Given the description of an element on the screen output the (x, y) to click on. 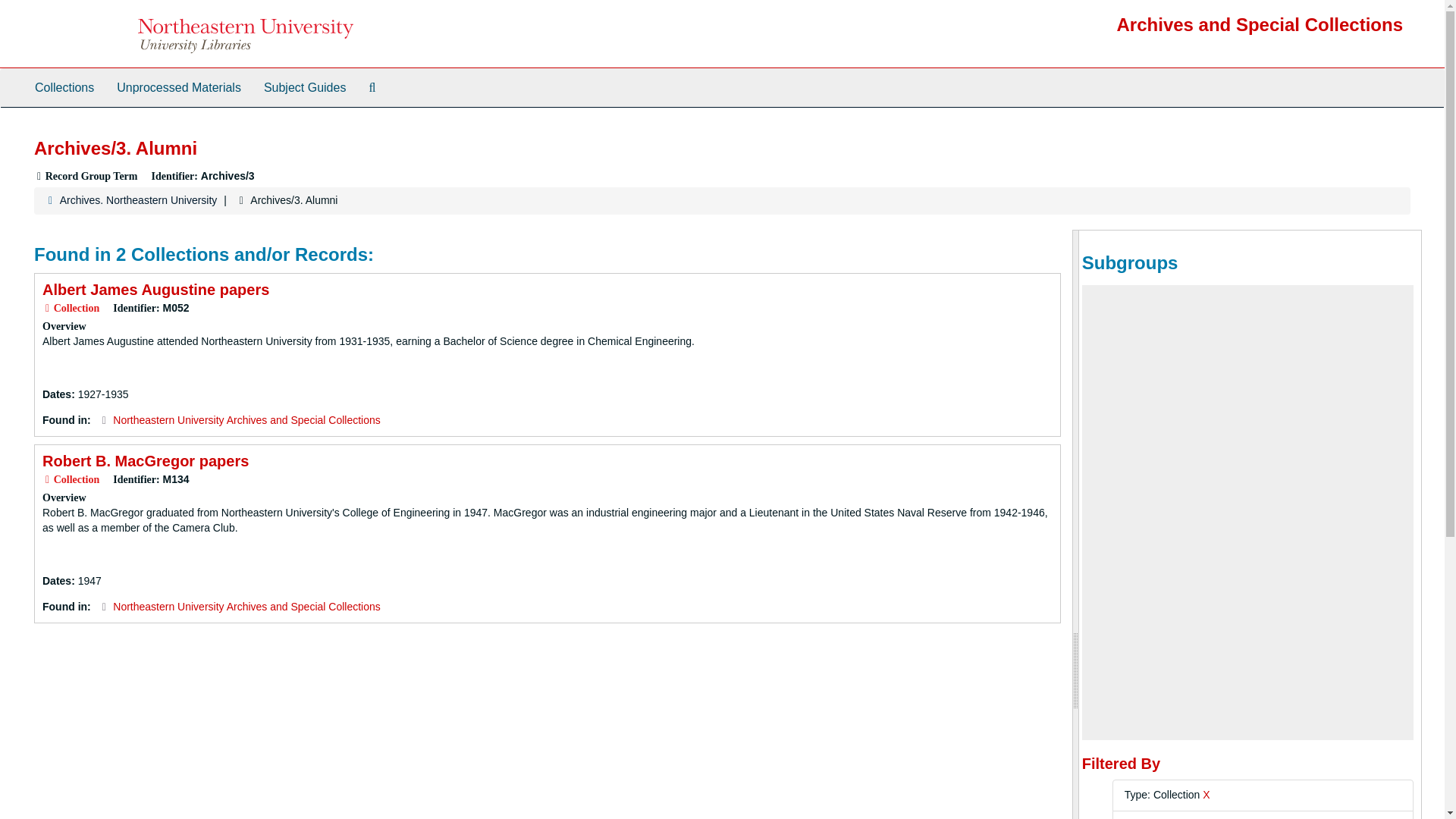
Collections (63, 87)
Remove this filter  (1205, 794)
Northeastern University Archives and Special Collections (246, 606)
Robert B. MacGregor papers (145, 460)
Archives. Northeastern University (137, 200)
Unprocessed Materials (177, 87)
Search The Archives (371, 87)
Northeastern University Archives and Special Collections (246, 419)
Subject Guides (304, 87)
Return to the Archives homepage (1259, 24)
Search The Archives (371, 87)
Albert James Augustine papers (155, 289)
X (1205, 794)
Archives and Special Collections (1259, 24)
